Given the description of an element on the screen output the (x, y) to click on. 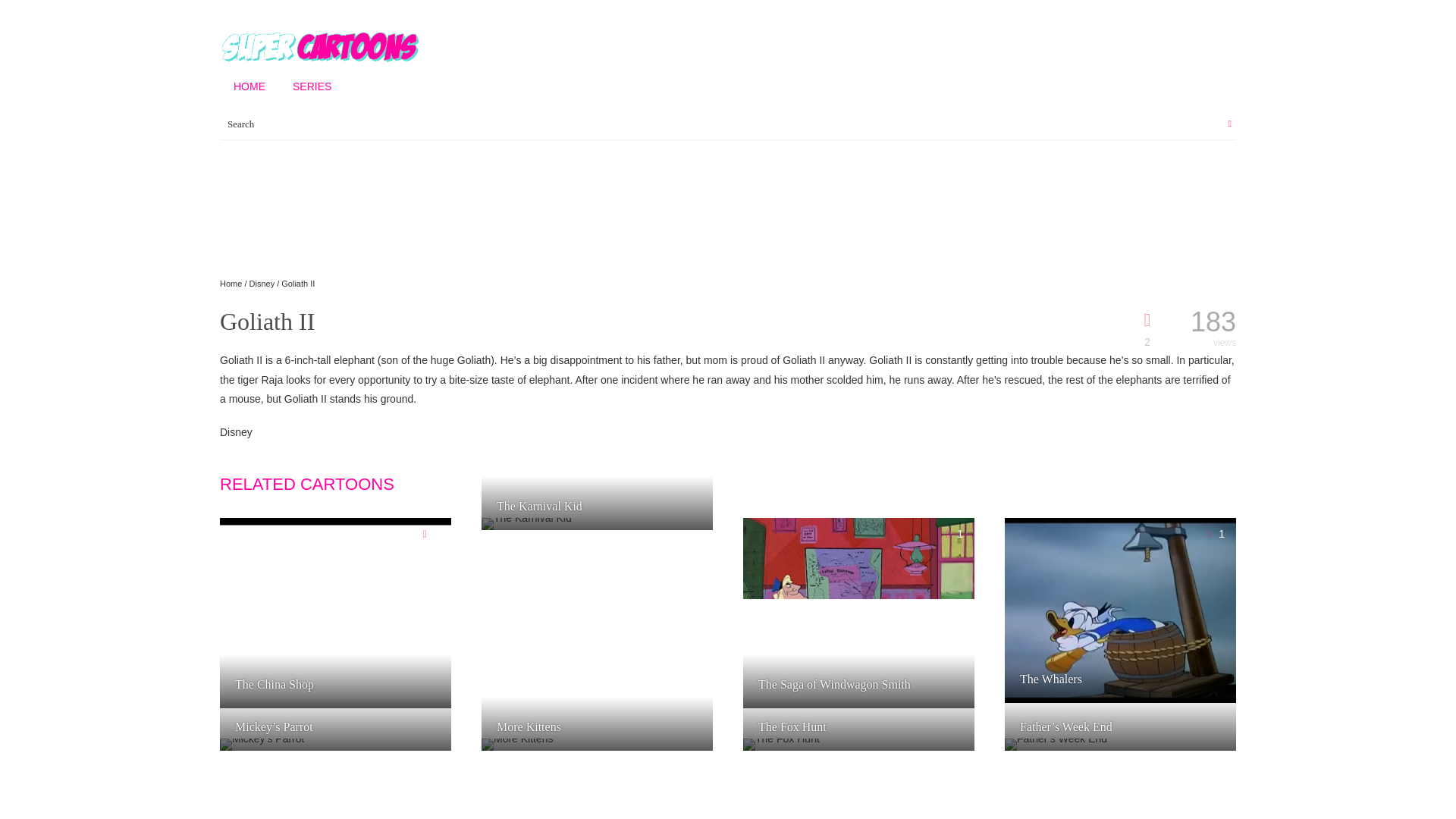
Like this (427, 533)
View all articles from: Disney (235, 431)
Like this (427, 754)
0 (689, 533)
1 (1213, 533)
The Saga of Windwagon Smith (849, 684)
Like this (689, 533)
3 (1213, 754)
The Whalers (1066, 679)
5 (427, 754)
